Given the description of an element on the screen output the (x, y) to click on. 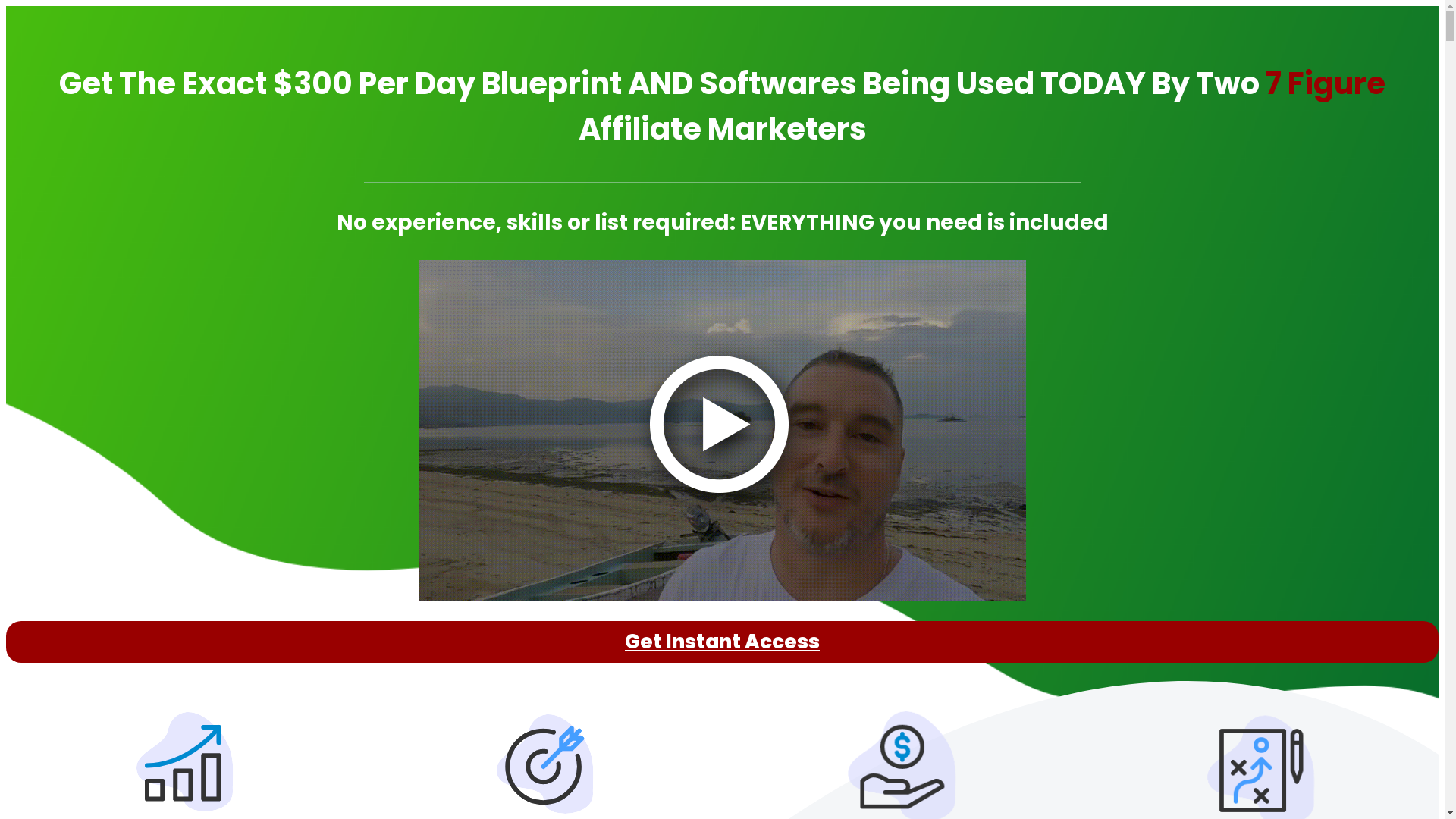
Get Instant Access Element type: text (722, 641)
